Given the description of an element on the screen output the (x, y) to click on. 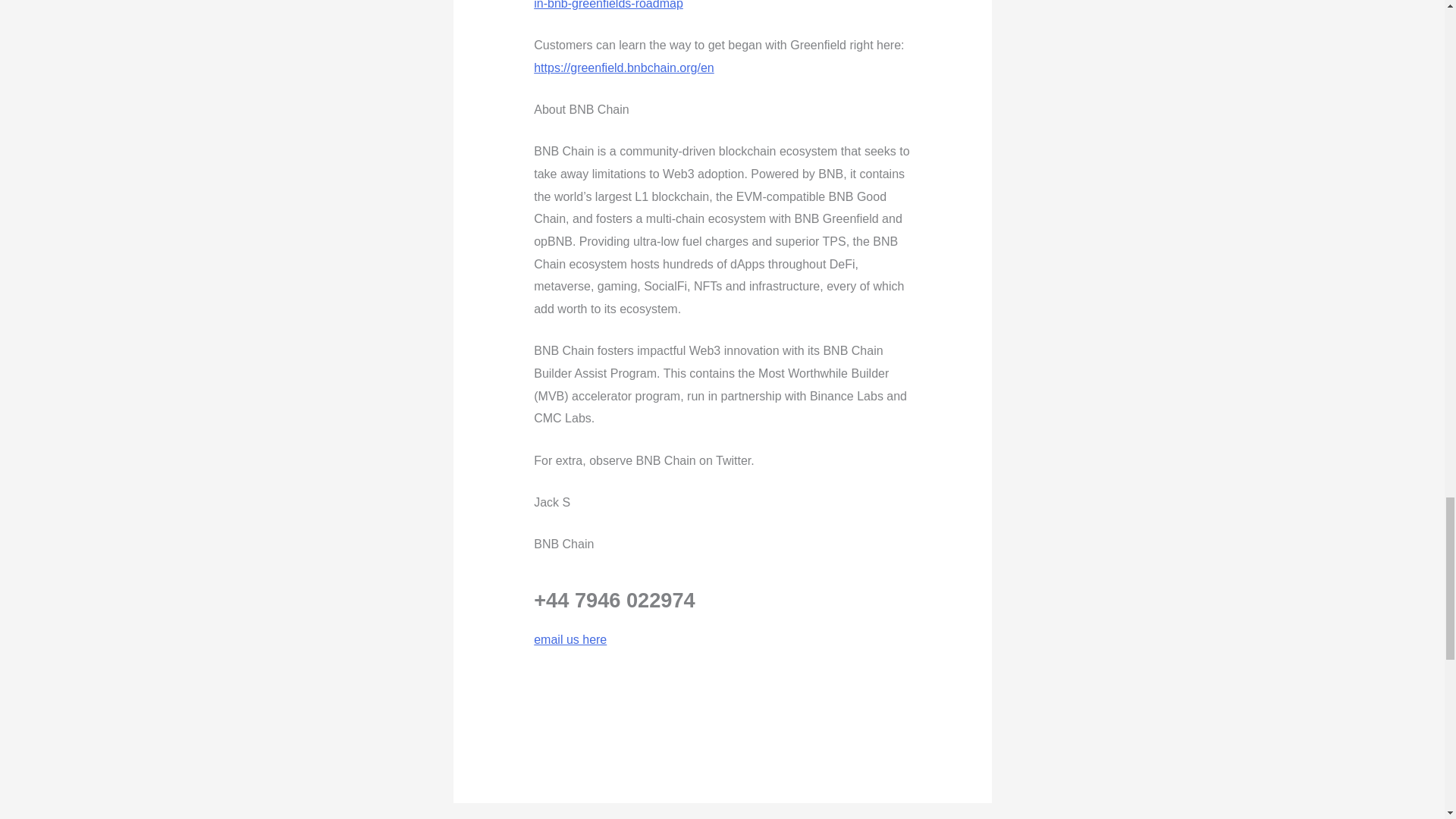
email us here (570, 639)
